Given the description of an element on the screen output the (x, y) to click on. 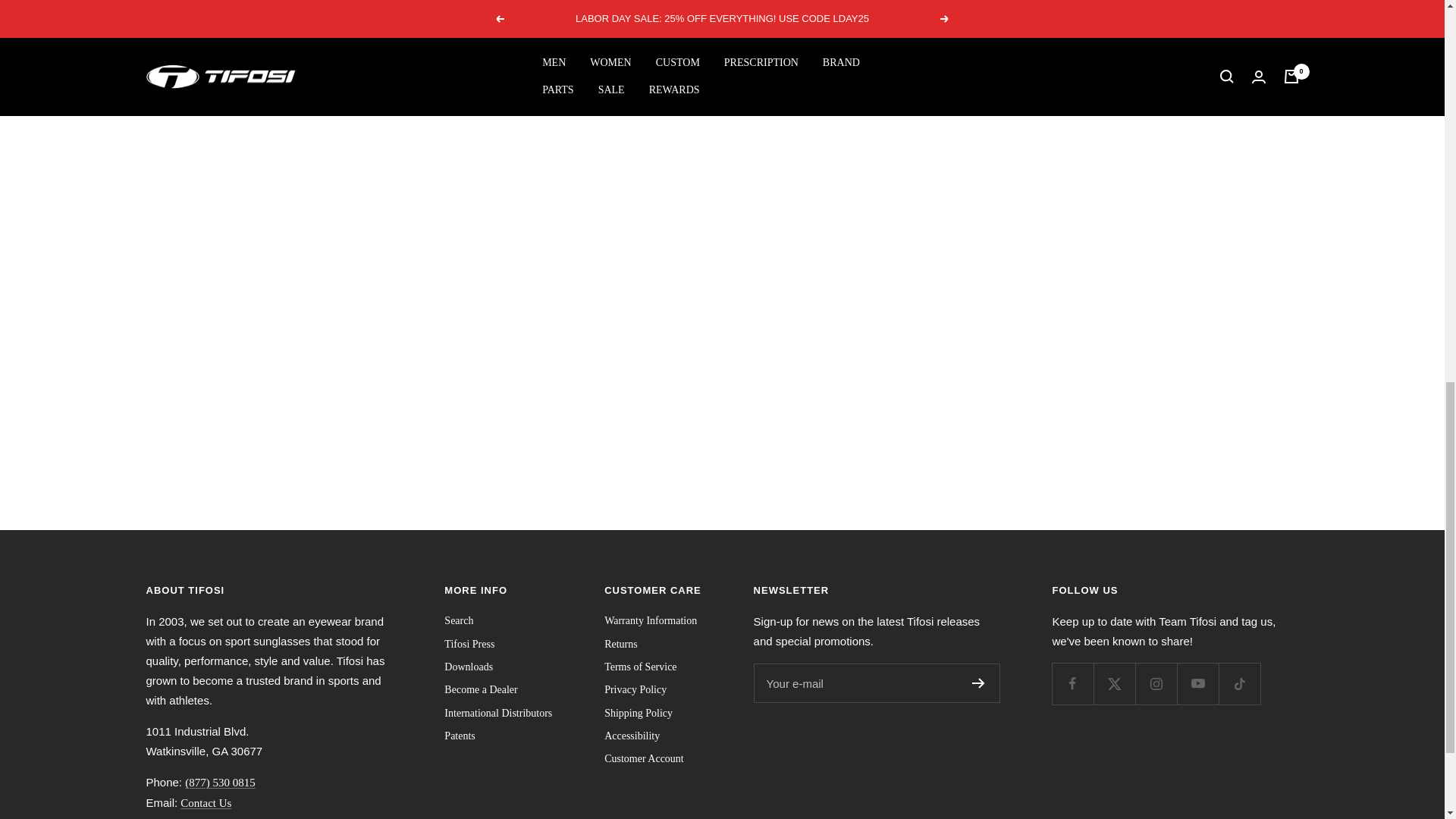
press (620, 644)
press (458, 620)
press (638, 713)
press (468, 667)
press (497, 713)
press (480, 689)
press (469, 644)
Contact Us (205, 802)
press (650, 620)
press (631, 736)
